Given the description of an element on the screen output the (x, y) to click on. 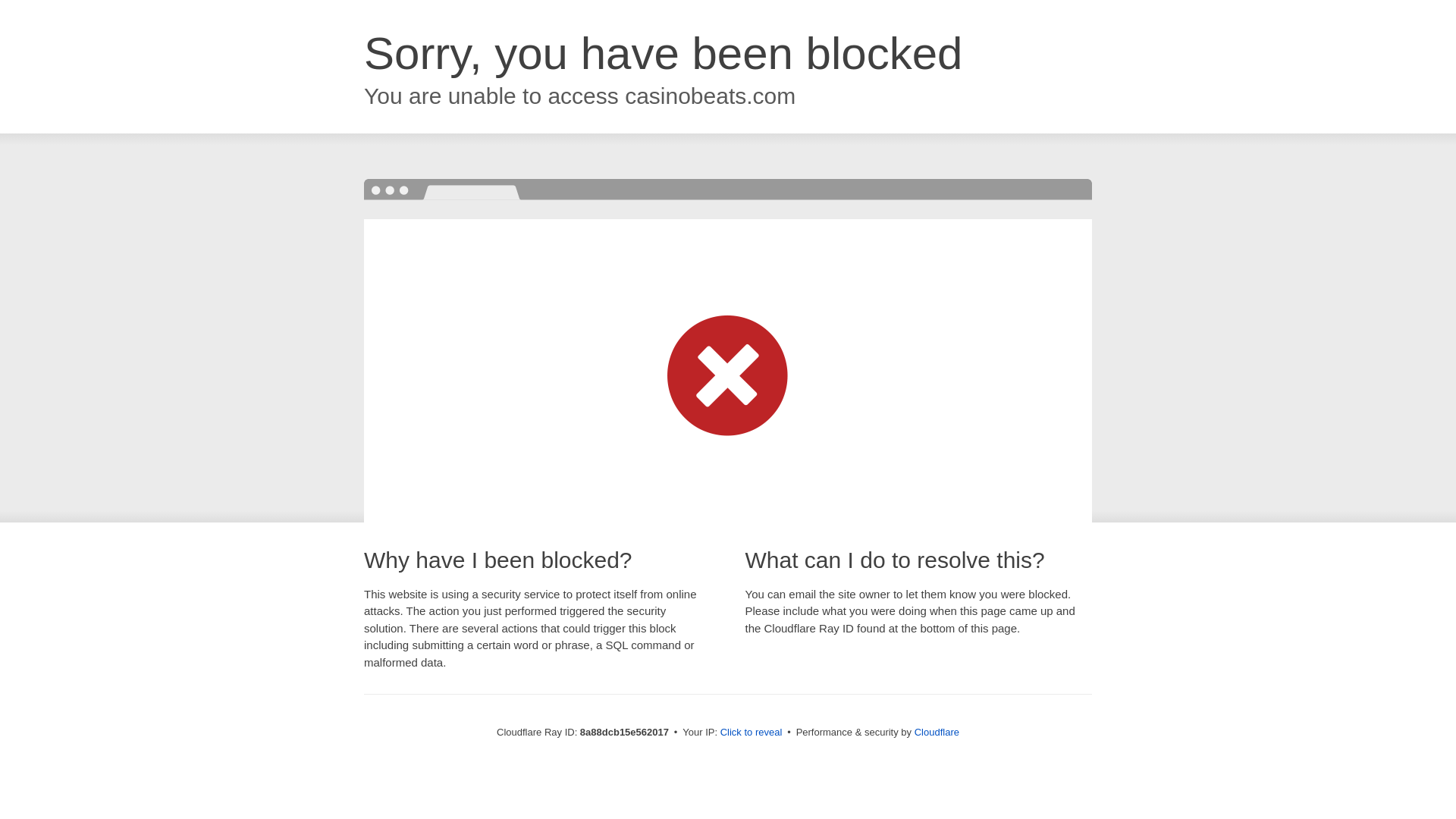
Cloudflare (936, 731)
Click to reveal (751, 732)
